Given the description of an element on the screen output the (x, y) to click on. 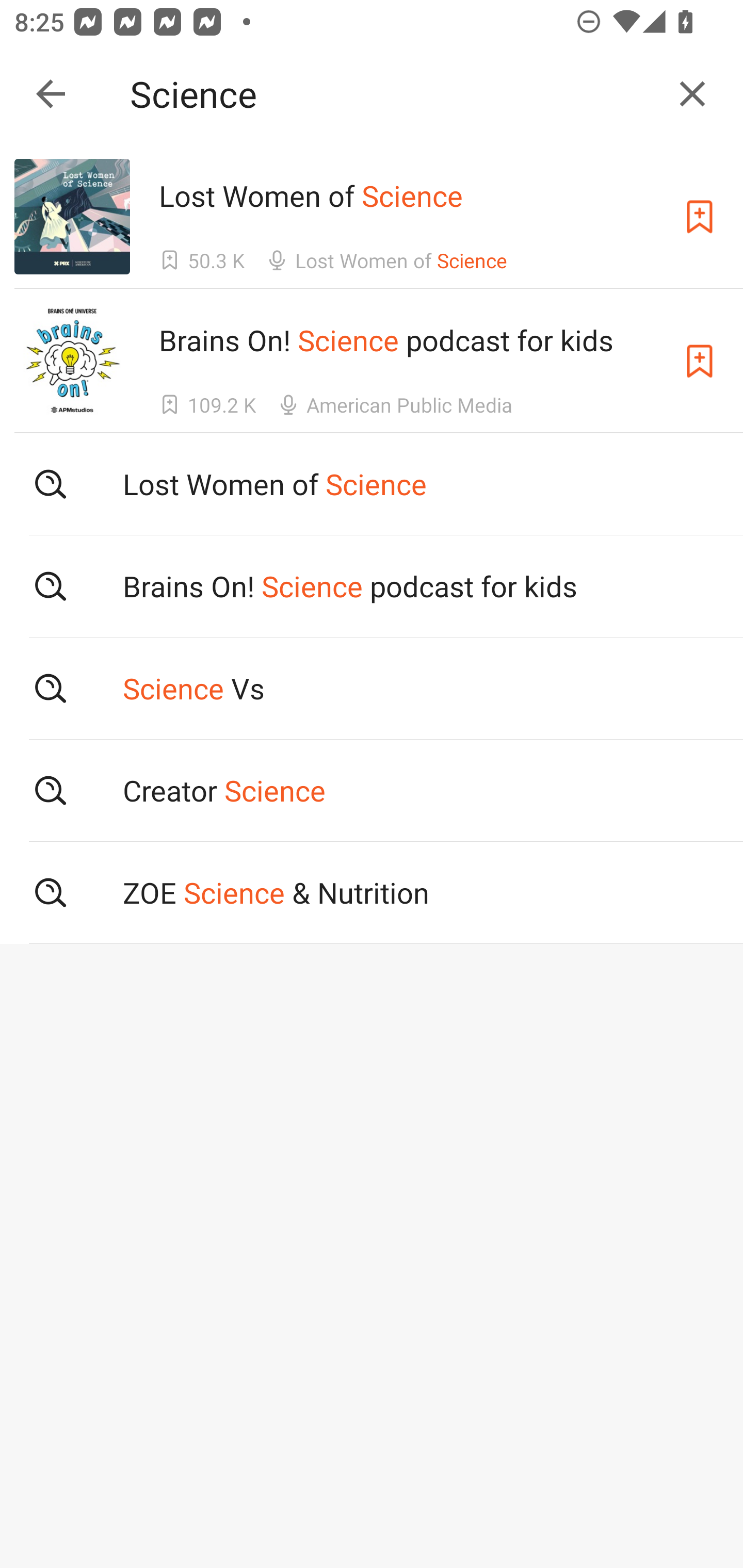
Collapse (50, 93)
Clear query (692, 93)
Science (393, 94)
Subscribe (699, 216)
Subscribe (699, 360)
 Lost Women of Science (371, 483)
 Brains On! Science podcast for kids (371, 585)
 Science Vs (371, 688)
 Creator Science (371, 791)
 ZOE Science & Nutrition (371, 892)
